Given the description of an element on the screen output the (x, y) to click on. 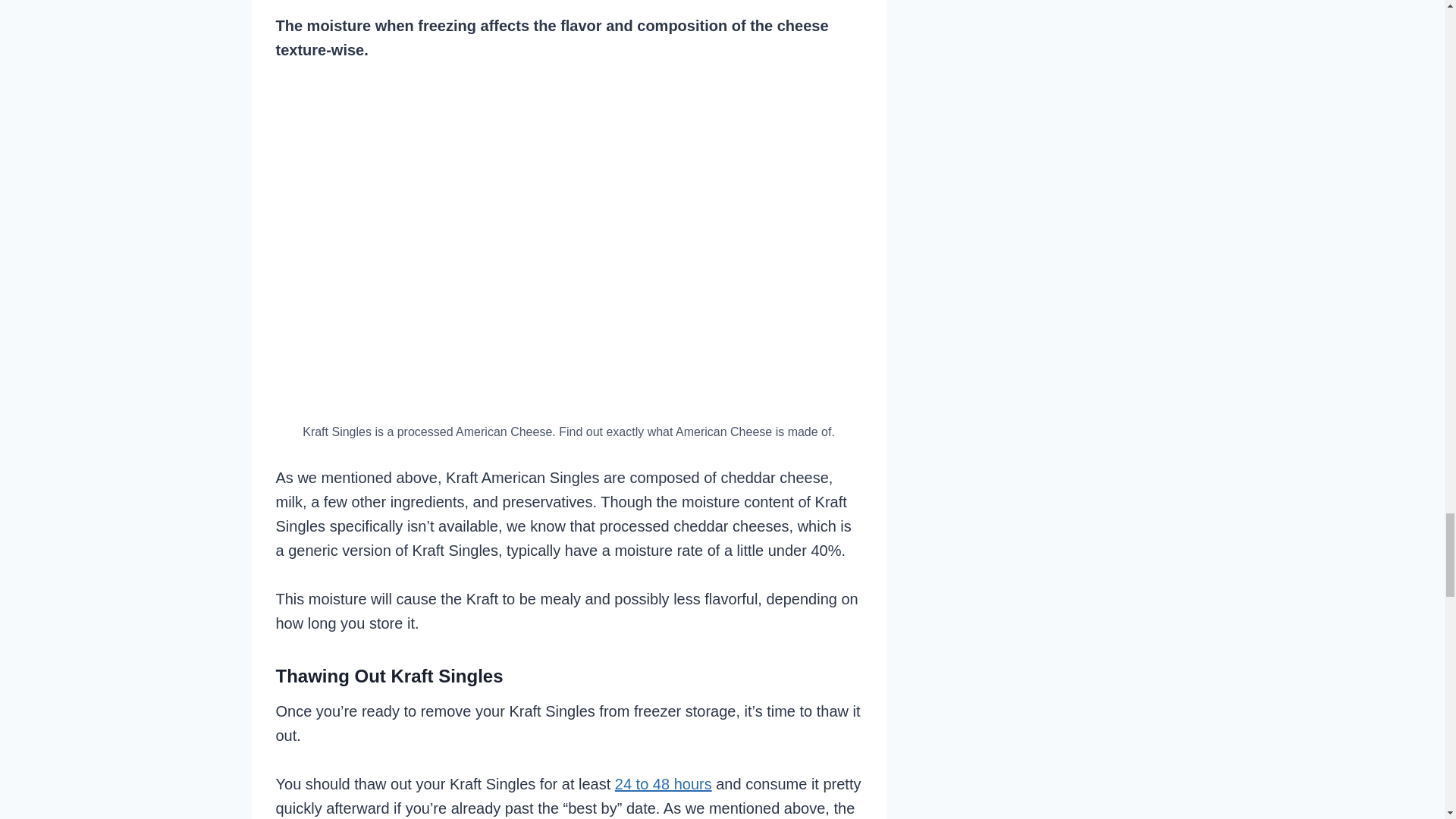
24 to 48 hours (662, 783)
